Given the description of an element on the screen output the (x, y) to click on. 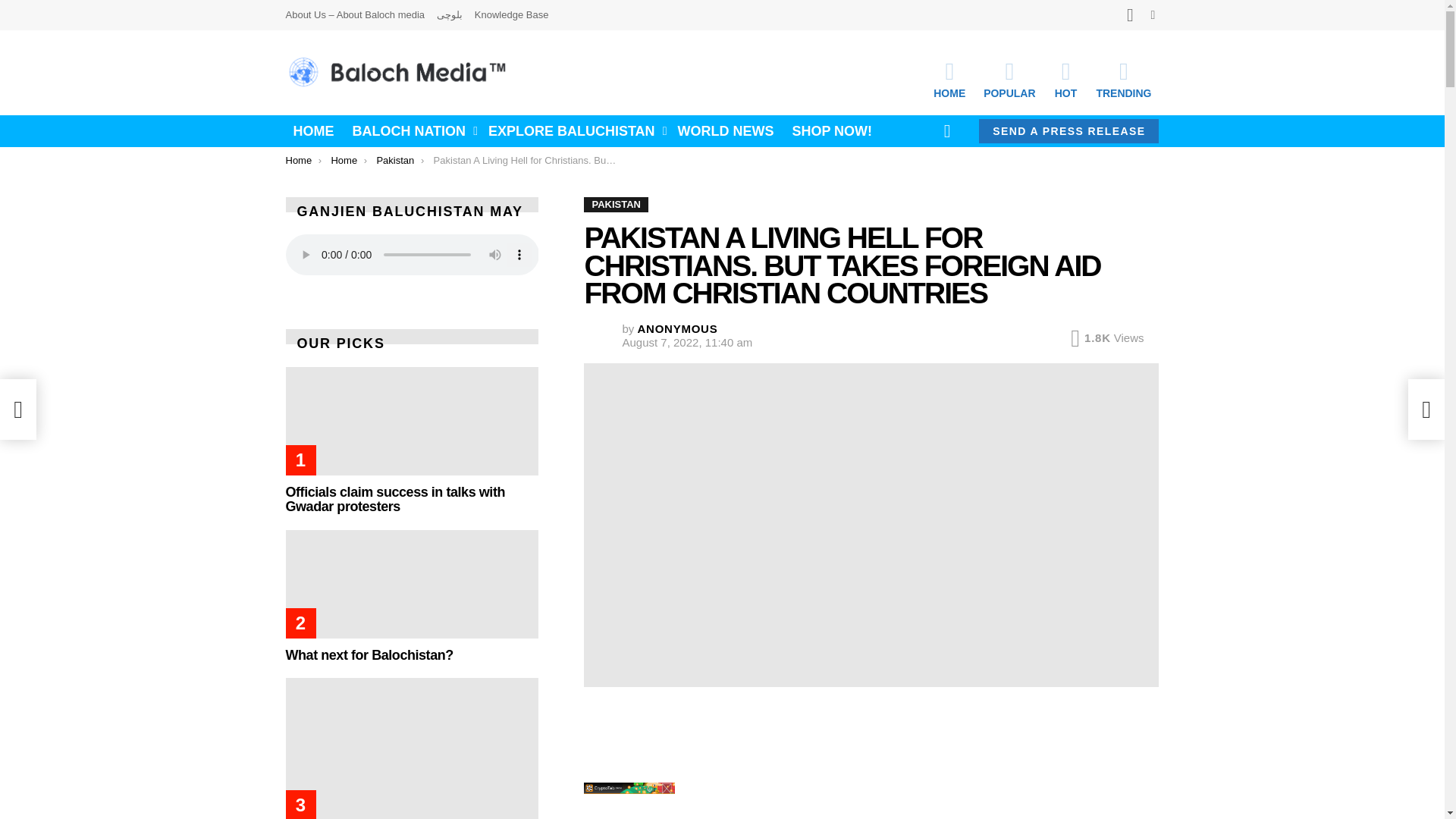
Posts by Anonymous (677, 328)
WORLD NEWS (725, 130)
BALOCH NATION (410, 130)
Knowledge Base (511, 15)
HOT (1064, 78)
HOME (312, 130)
POPULAR (1008, 78)
EXPLORE BALUCHISTAN (573, 130)
TRENDING (1122, 78)
HOME (949, 78)
